Given the description of an element on the screen output the (x, y) to click on. 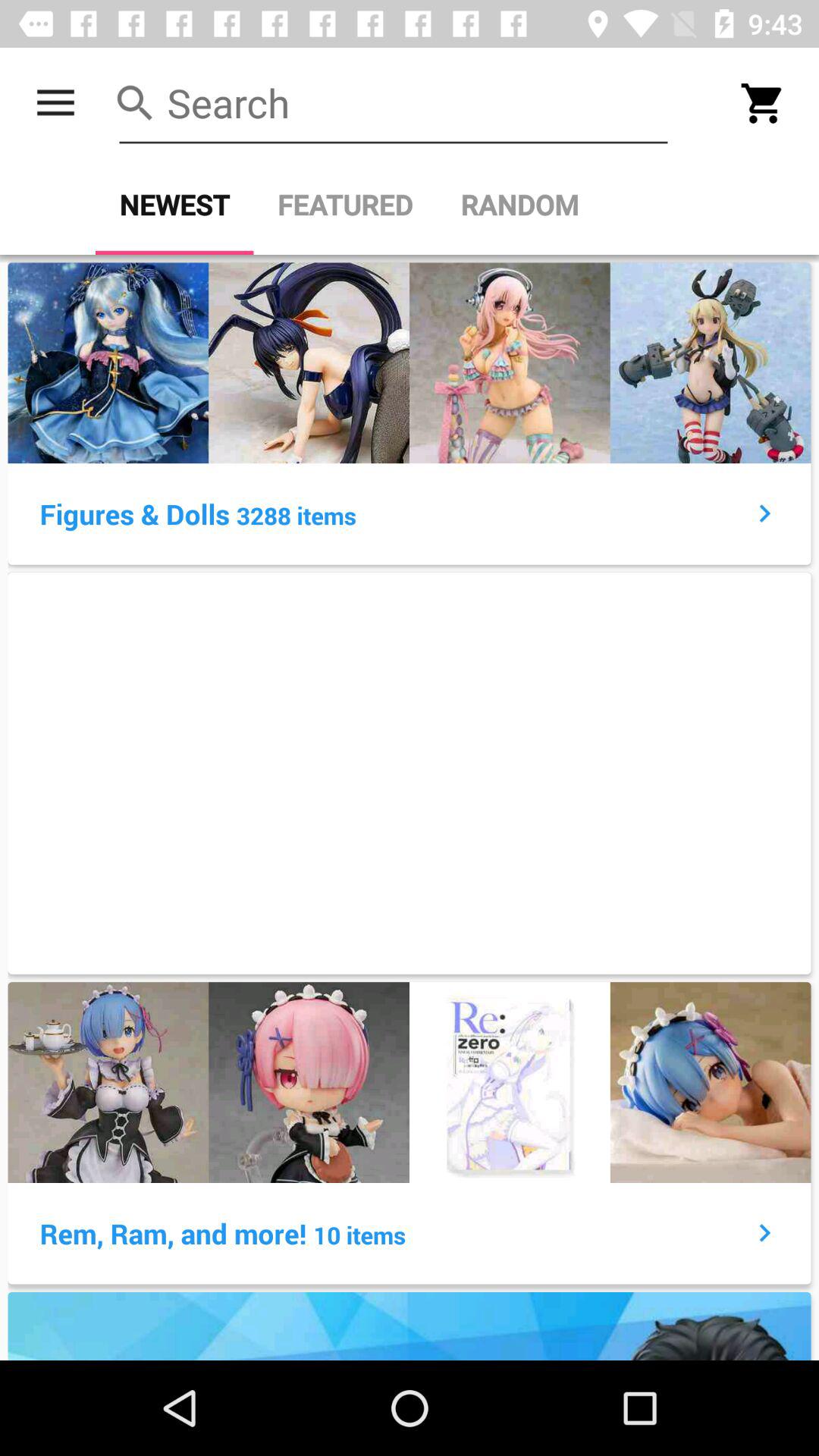
jump until the featured item (344, 204)
